Given the description of an element on the screen output the (x, y) to click on. 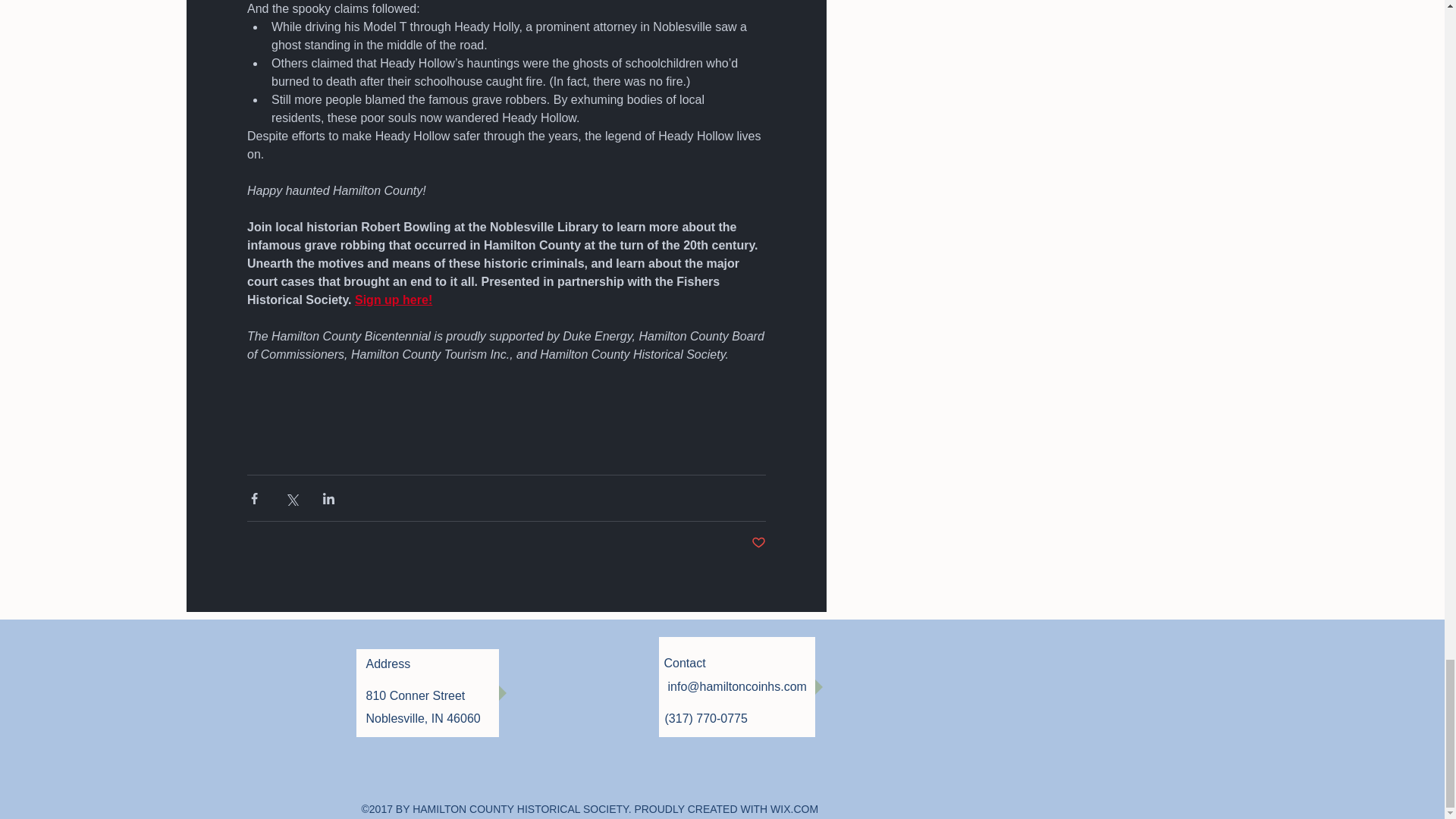
Sign up here! (391, 299)
Post not marked as liked (758, 543)
